Given the description of an element on the screen output the (x, y) to click on. 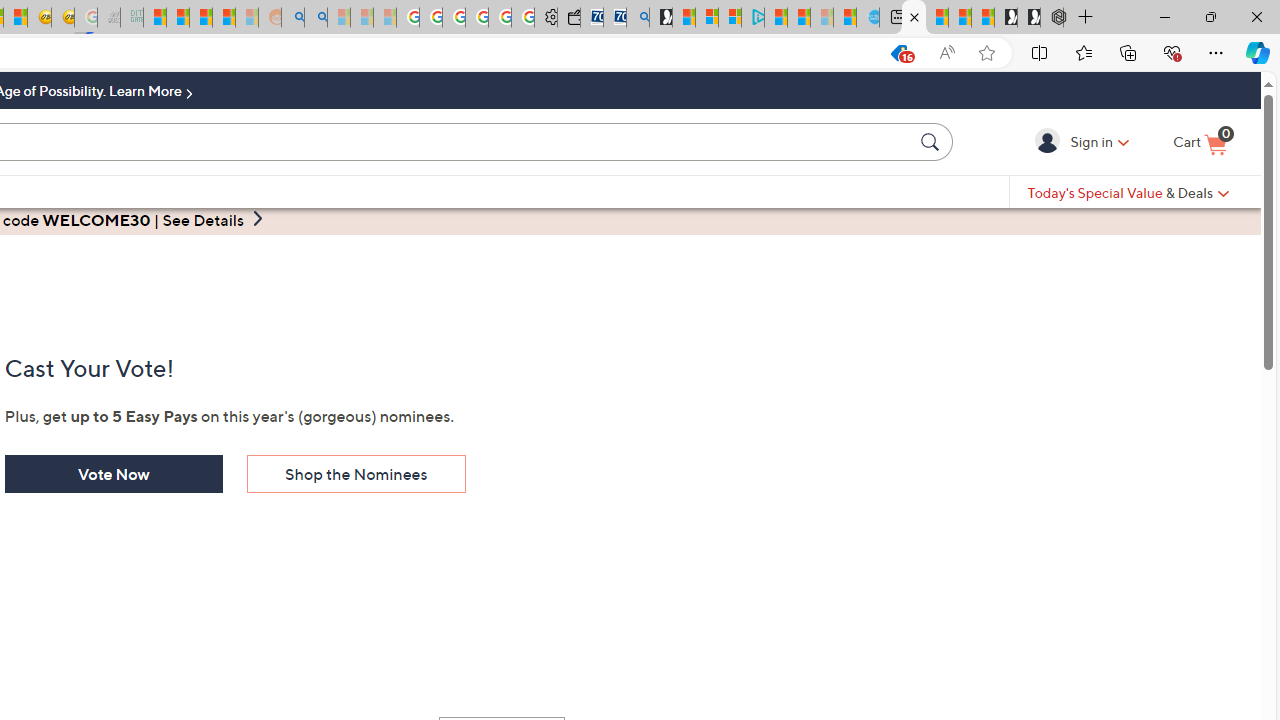
Microsoft Start Gaming (660, 17)
MSNBC - MSN (154, 17)
Bing Real Estate - Home sales and rental listings (637, 17)
